Given the description of an element on the screen output the (x, y) to click on. 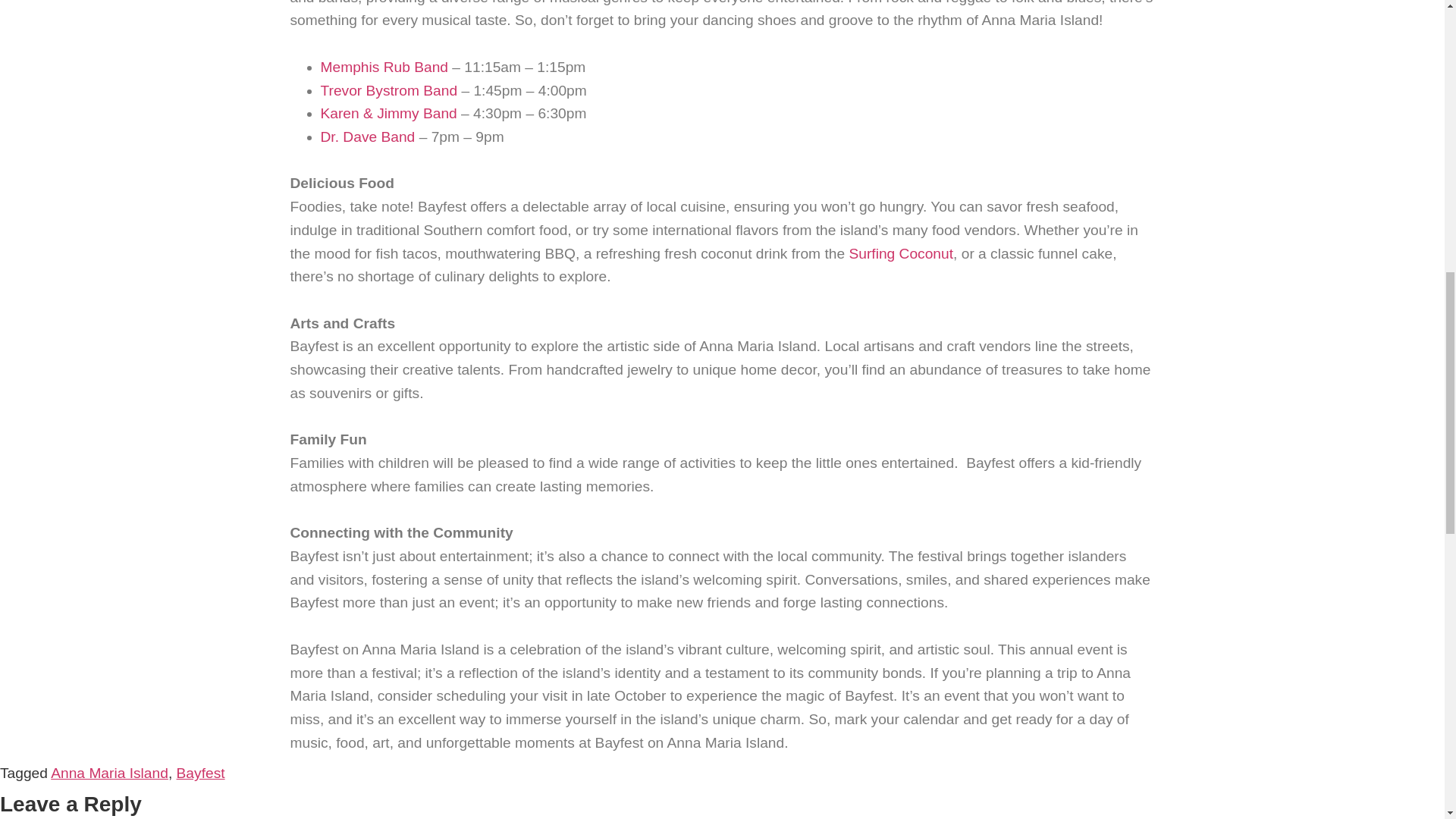
Memphis Rub Band (384, 66)
Dr. Dave Band (367, 136)
Anna Maria Island (109, 772)
Surfing Coconut (900, 253)
Trevor Bystrom Band (388, 90)
Bayfest (200, 772)
